Given the description of an element on the screen output the (x, y) to click on. 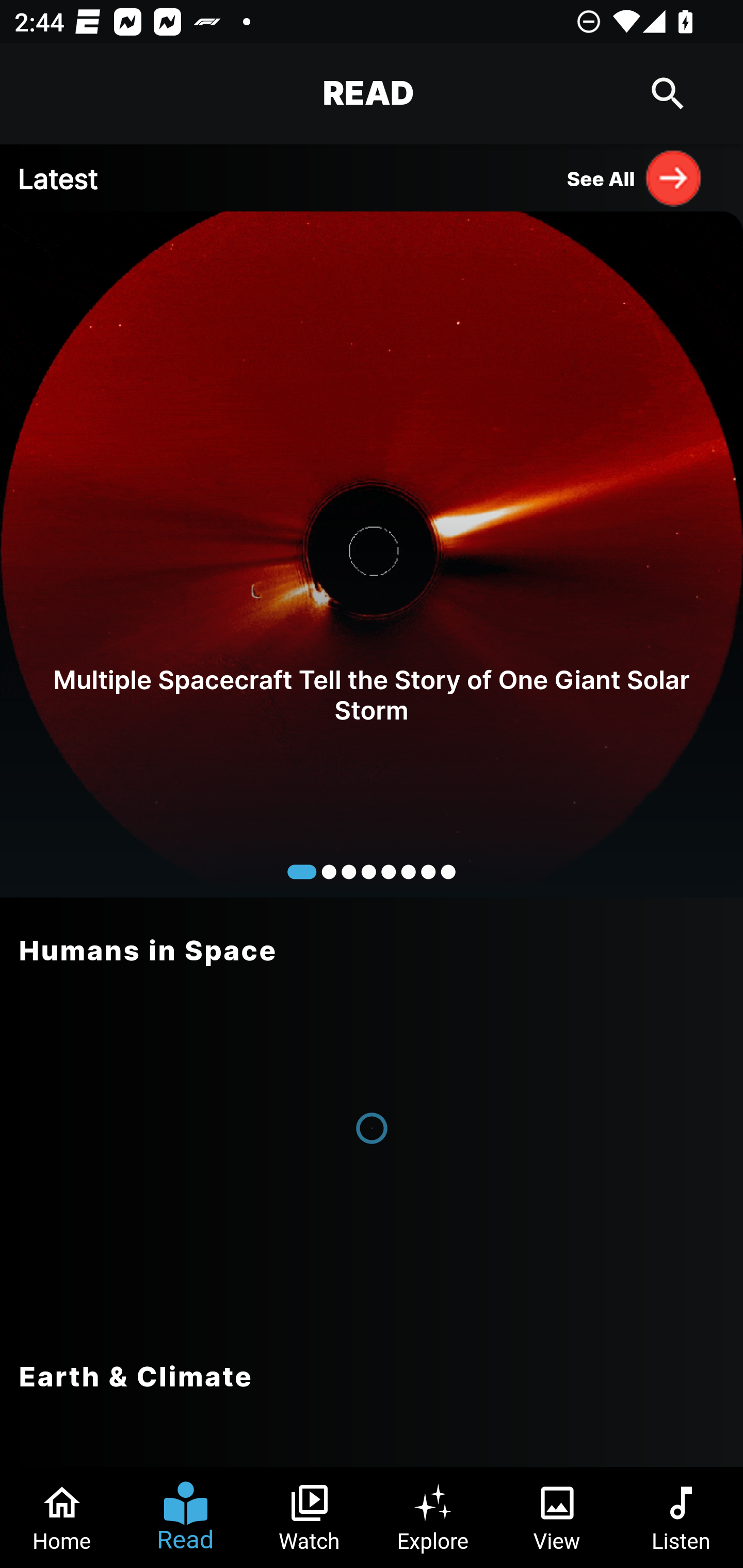
See All (634, 177)
Home
Tab 1 of 6 (62, 1517)
Read
Tab 2 of 6 (185, 1517)
Watch
Tab 3 of 6 (309, 1517)
Explore
Tab 4 of 6 (433, 1517)
View
Tab 5 of 6 (556, 1517)
Listen
Tab 6 of 6 (680, 1517)
